Given the description of an element on the screen output the (x, y) to click on. 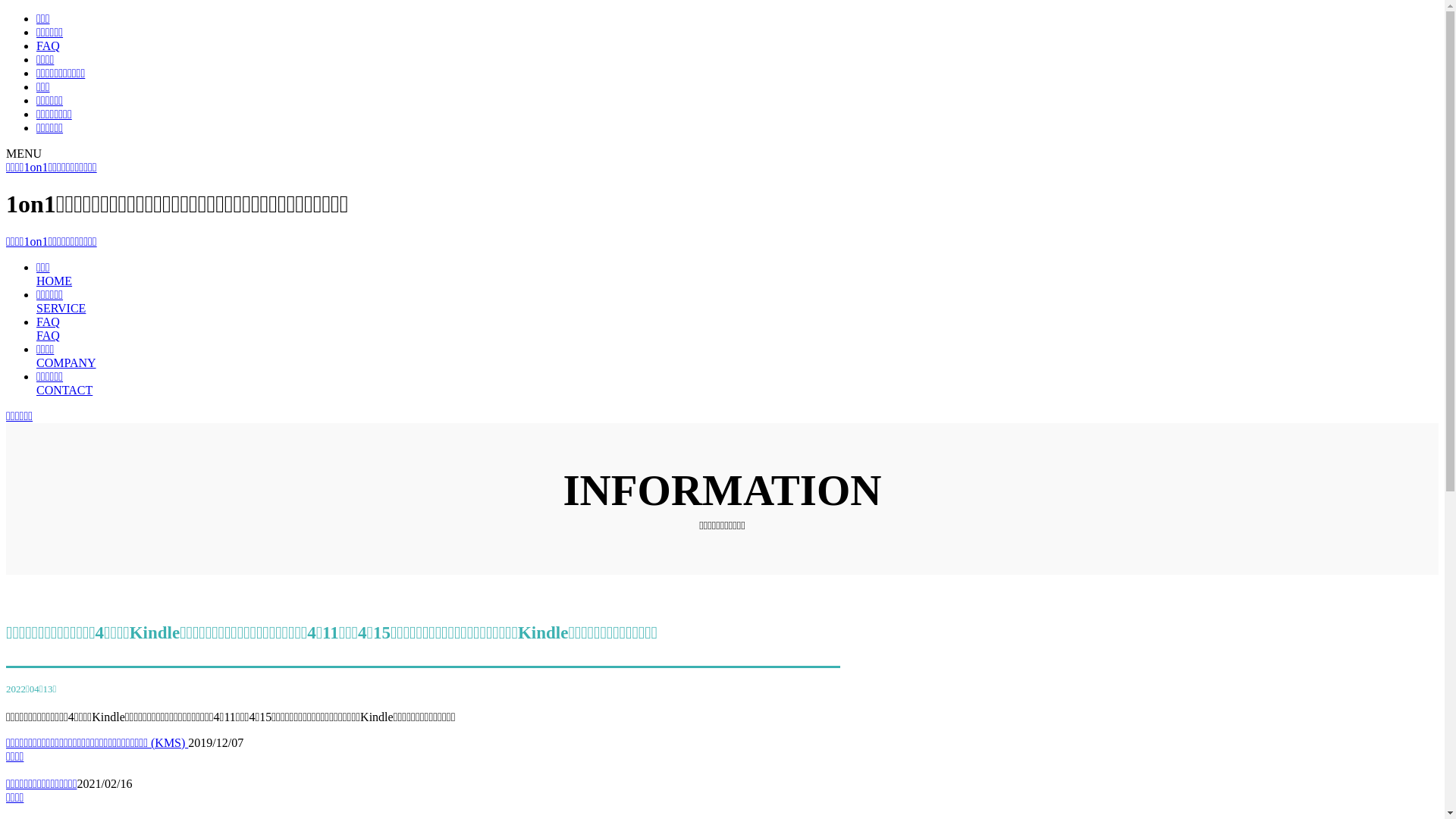
FAQ
FAQ Element type: text (47, 328)
FAQ Element type: text (47, 45)
